Given the description of an element on the screen output the (x, y) to click on. 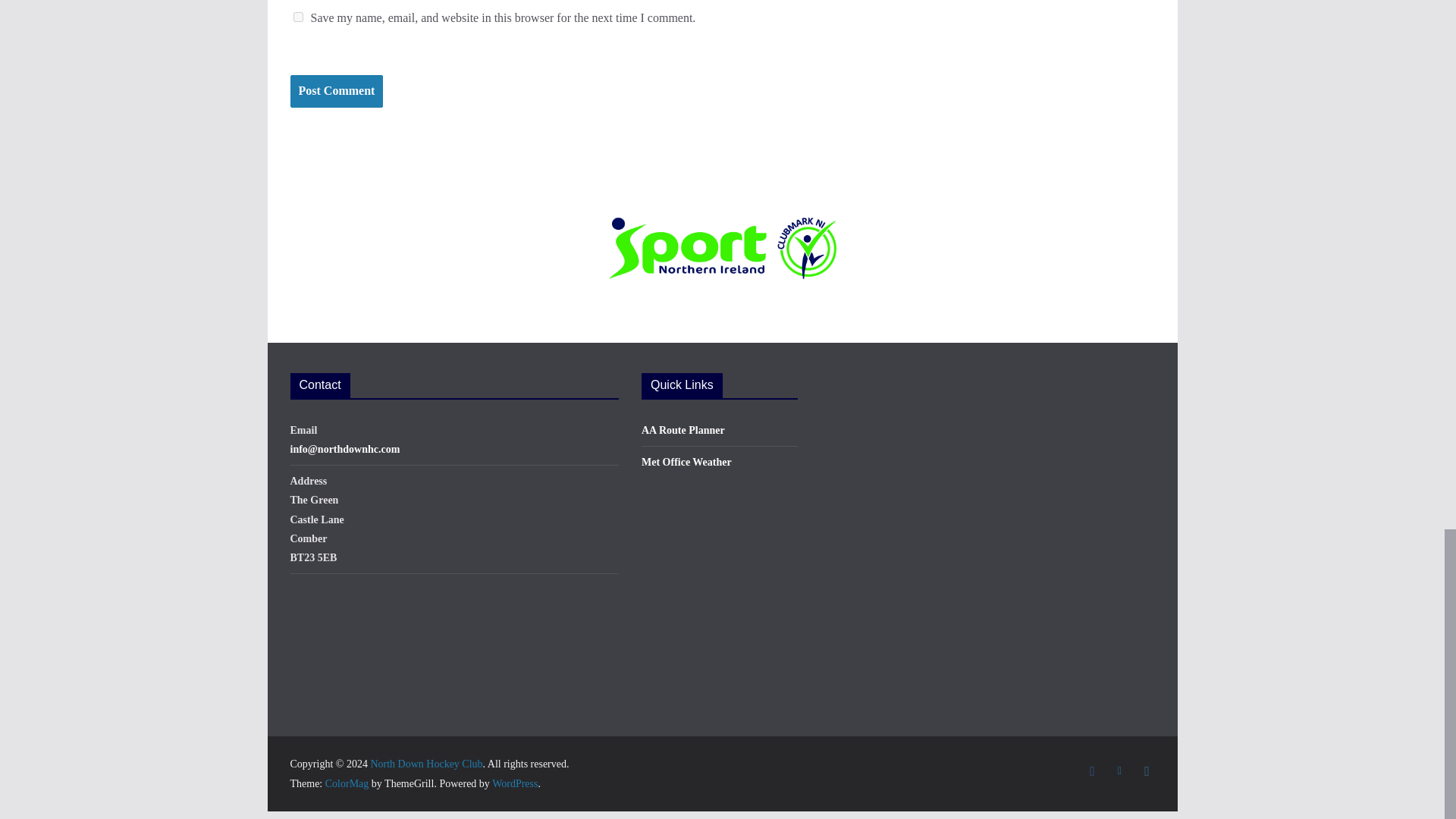
ColorMag (346, 783)
yes (297, 17)
North Down Hockey Club (425, 763)
Post Comment (335, 91)
WordPress (514, 783)
